Given the description of an element on the screen output the (x, y) to click on. 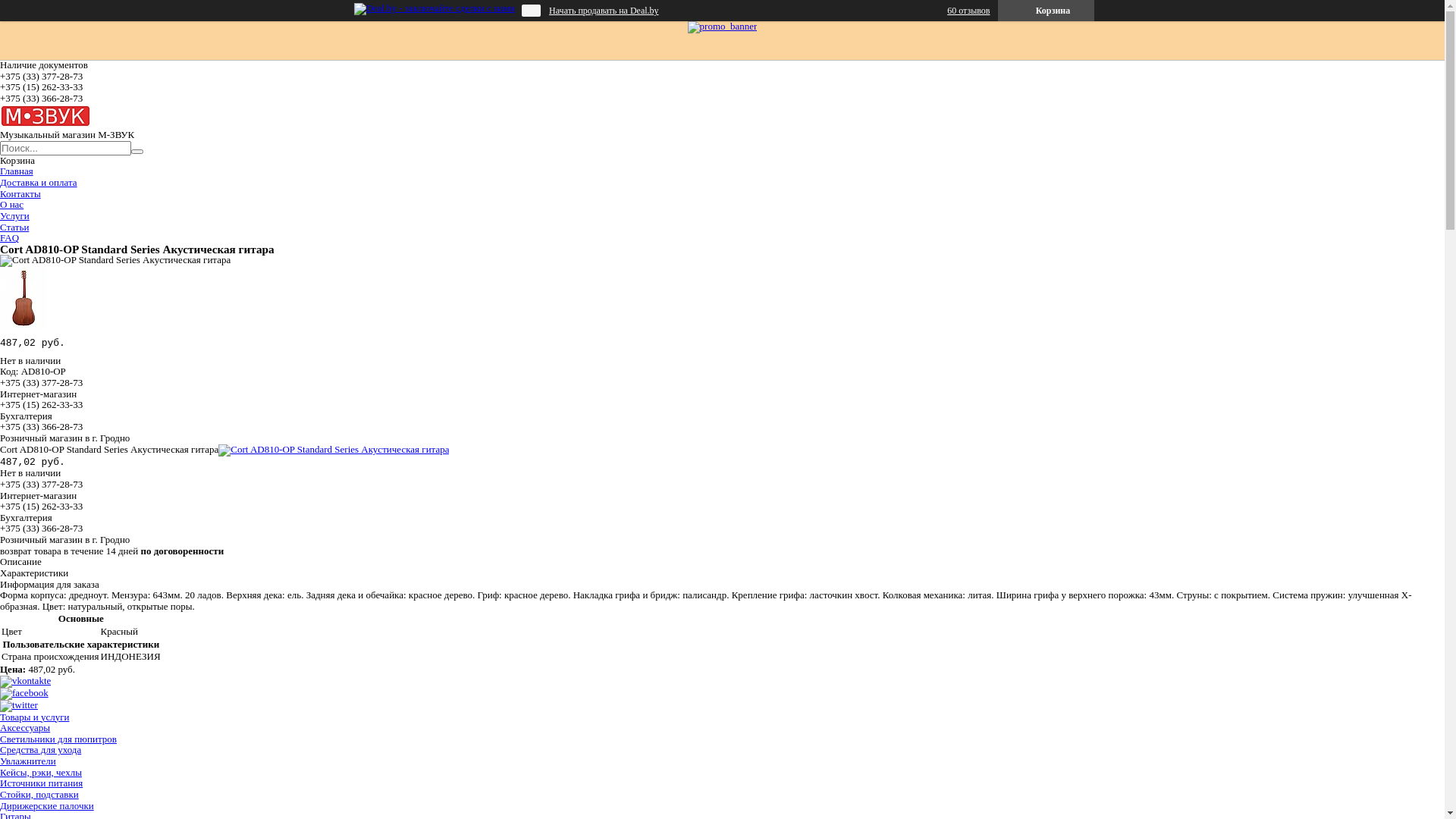
FAQ Element type: text (9, 237)
facebook Element type: hover (24, 692)
twitter Element type: hover (18, 704)
